Given the description of an element on the screen output the (x, y) to click on. 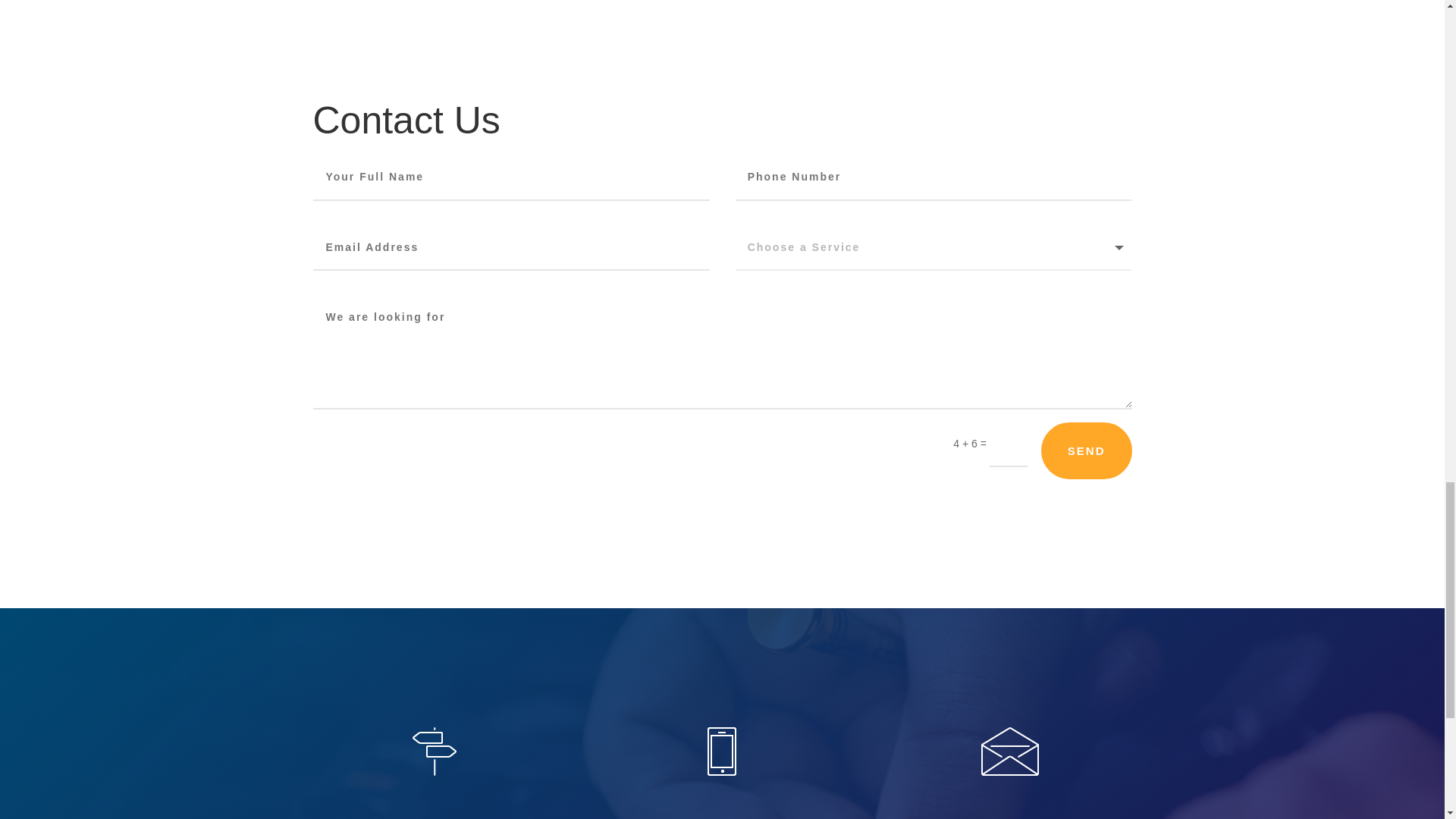
line-icons-42 (434, 751)
line-icons-41 (1010, 751)
